Given the description of an element on the screen output the (x, y) to click on. 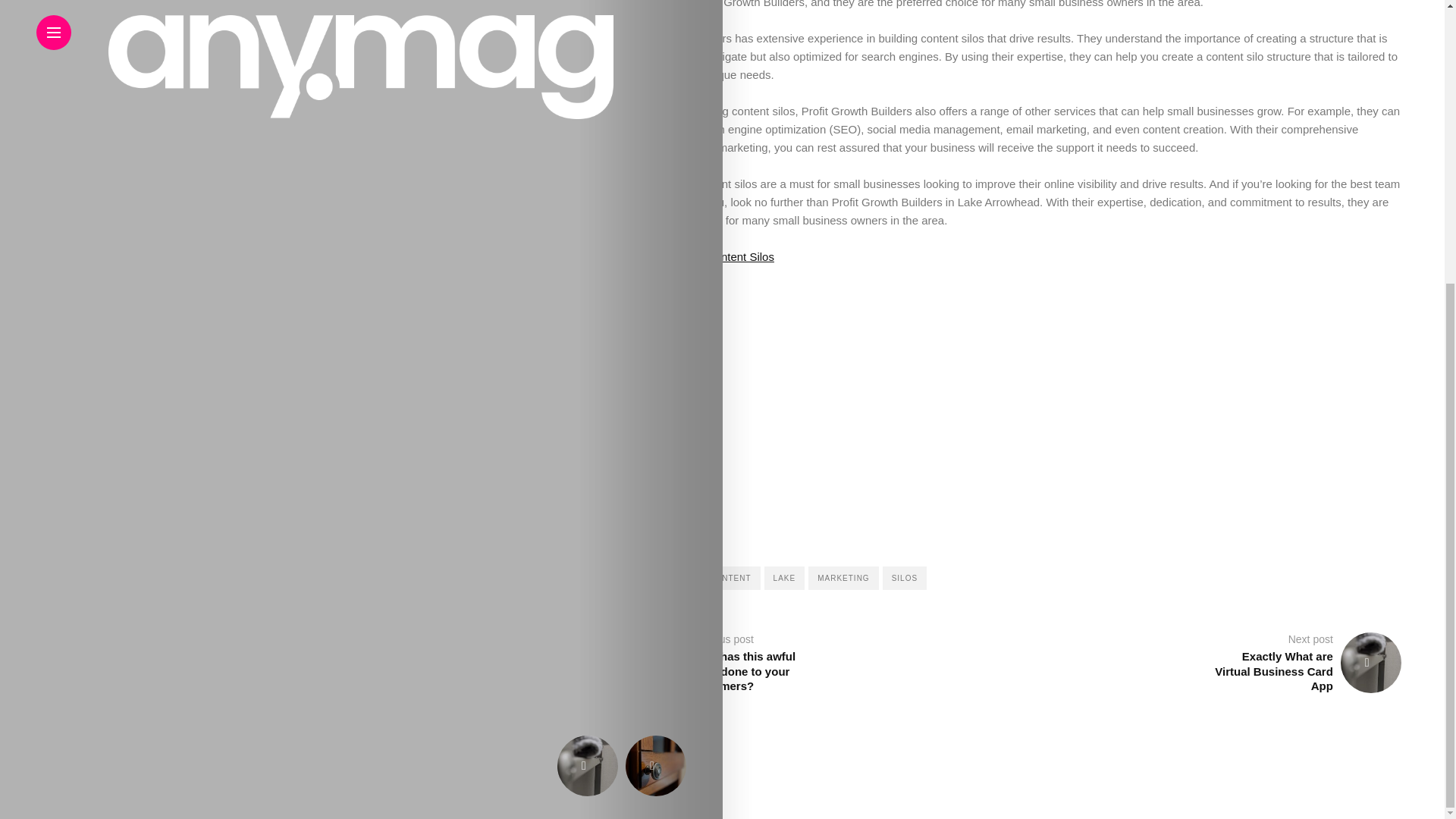
SILOS (883, 577)
ARROWHEAD (537, 577)
Lake Arrowhead Content Silos (553, 256)
LAKE (733, 577)
MARKETING (803, 577)
CONTENT (648, 577)
